Given the description of an element on the screen output the (x, y) to click on. 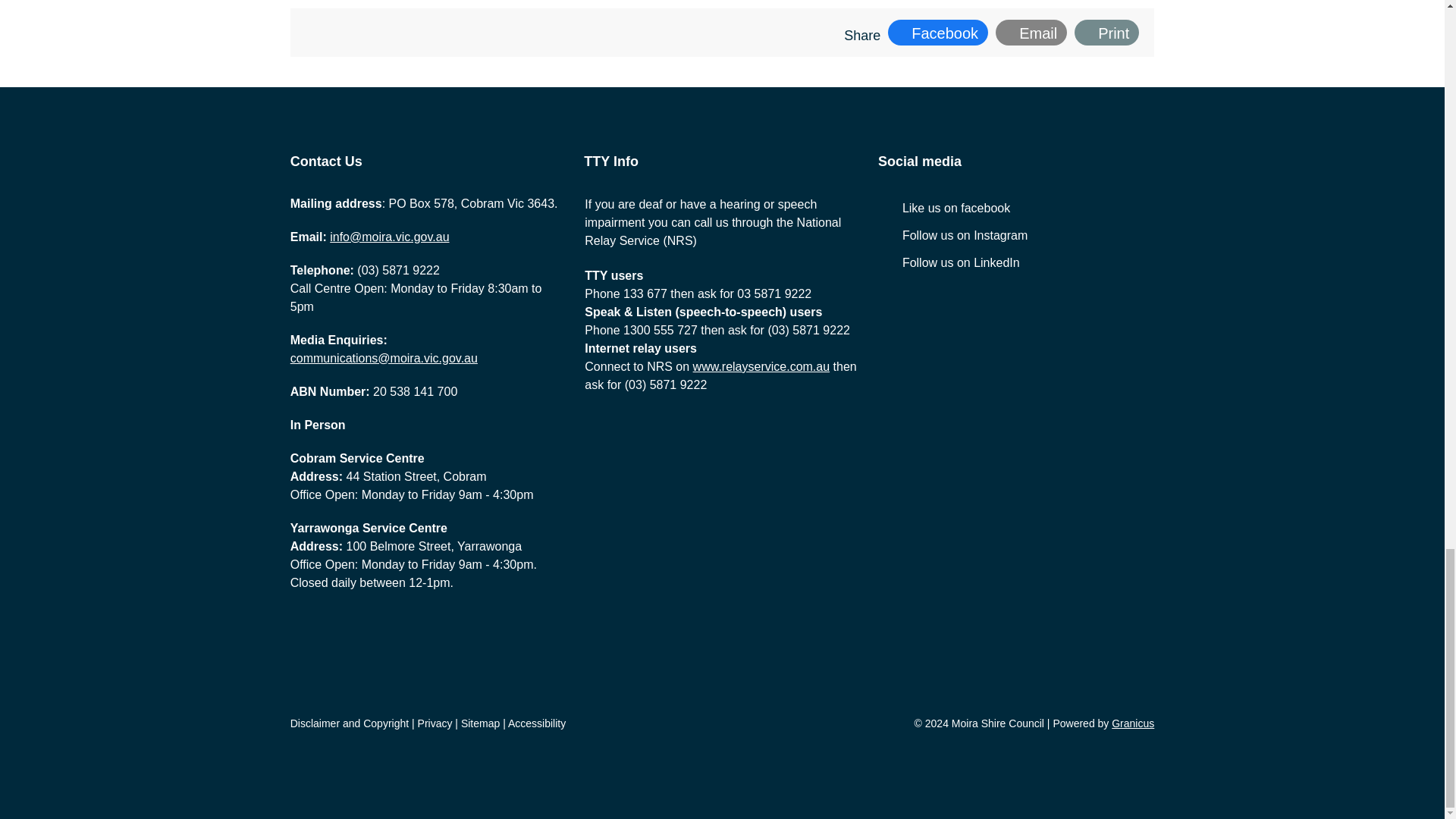
click here to make an internet call with NRS (761, 366)
